Given the description of an element on the screen output the (x, y) to click on. 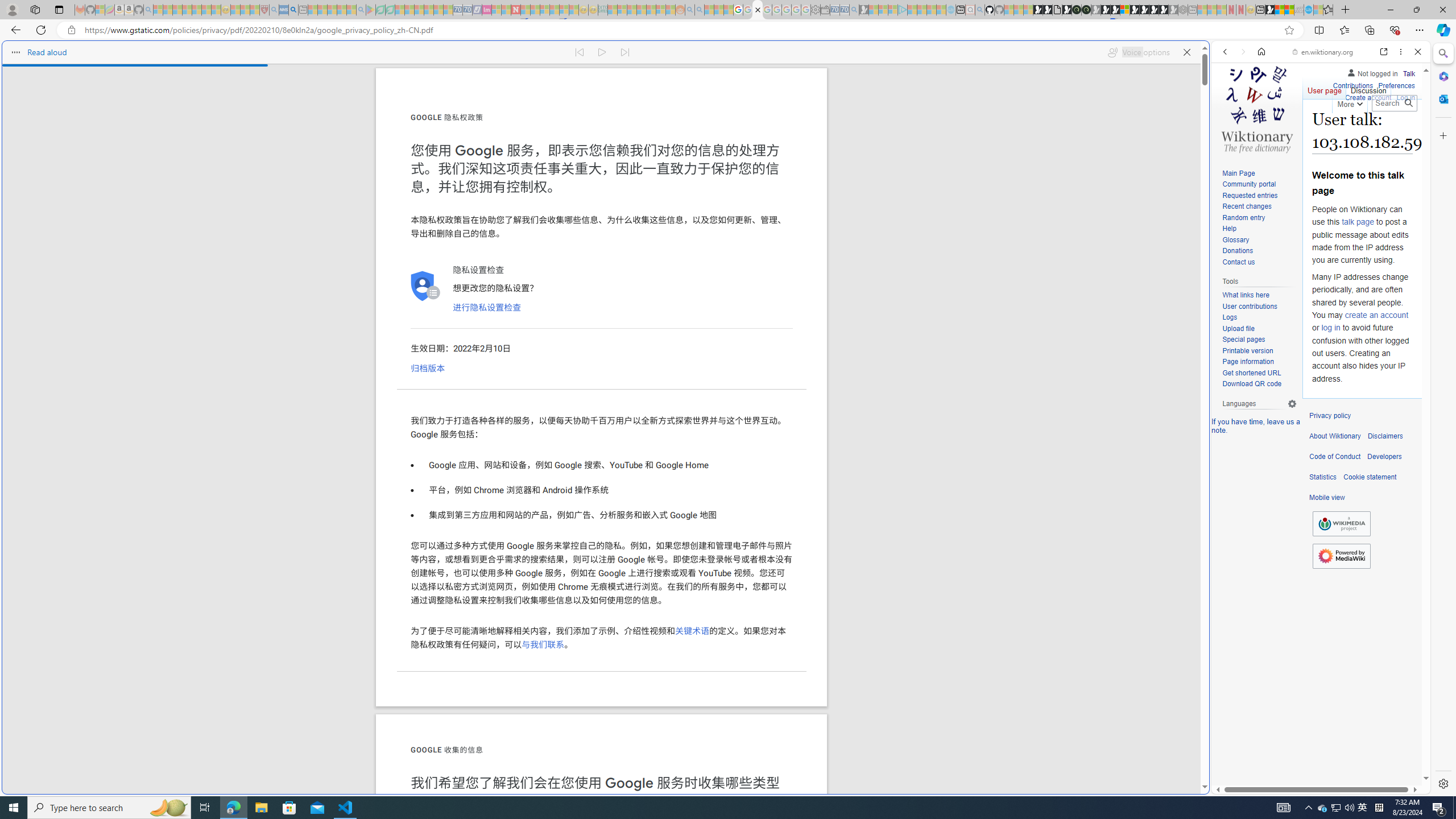
Earth has six continents not seven, radical new study claims (1288, 9)
Close read aloud (1186, 52)
Mobile view (1326, 497)
World - MSN (1279, 9)
Download QR code (1259, 383)
Pets - MSN - Sleeping (340, 9)
Random entry (1243, 216)
Create account (1367, 98)
